Given the description of an element on the screen output the (x, y) to click on. 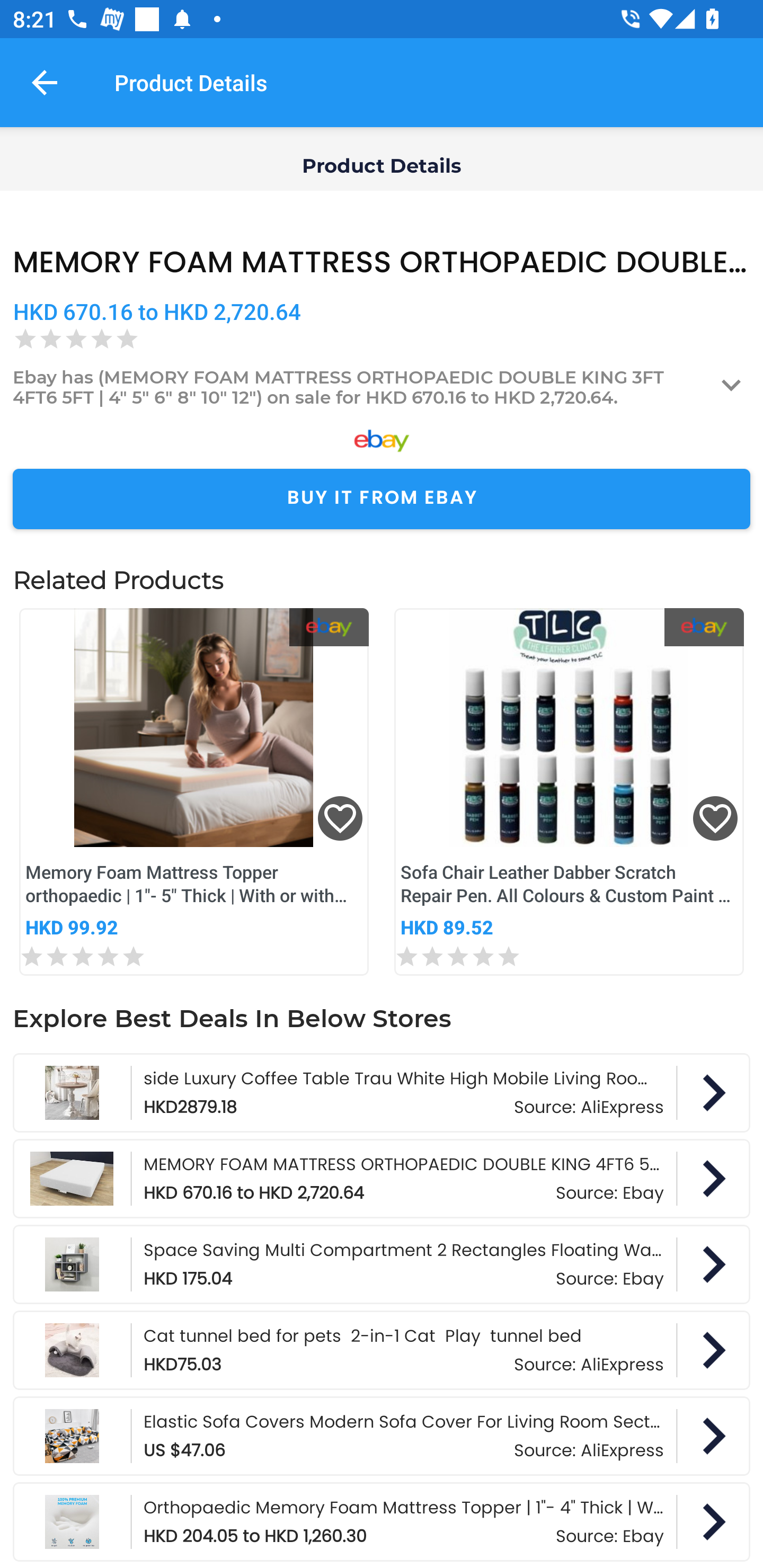
Navigate up (44, 82)
BUY IT FROM EBAY (381, 499)
